Given the description of an element on the screen output the (x, y) to click on. 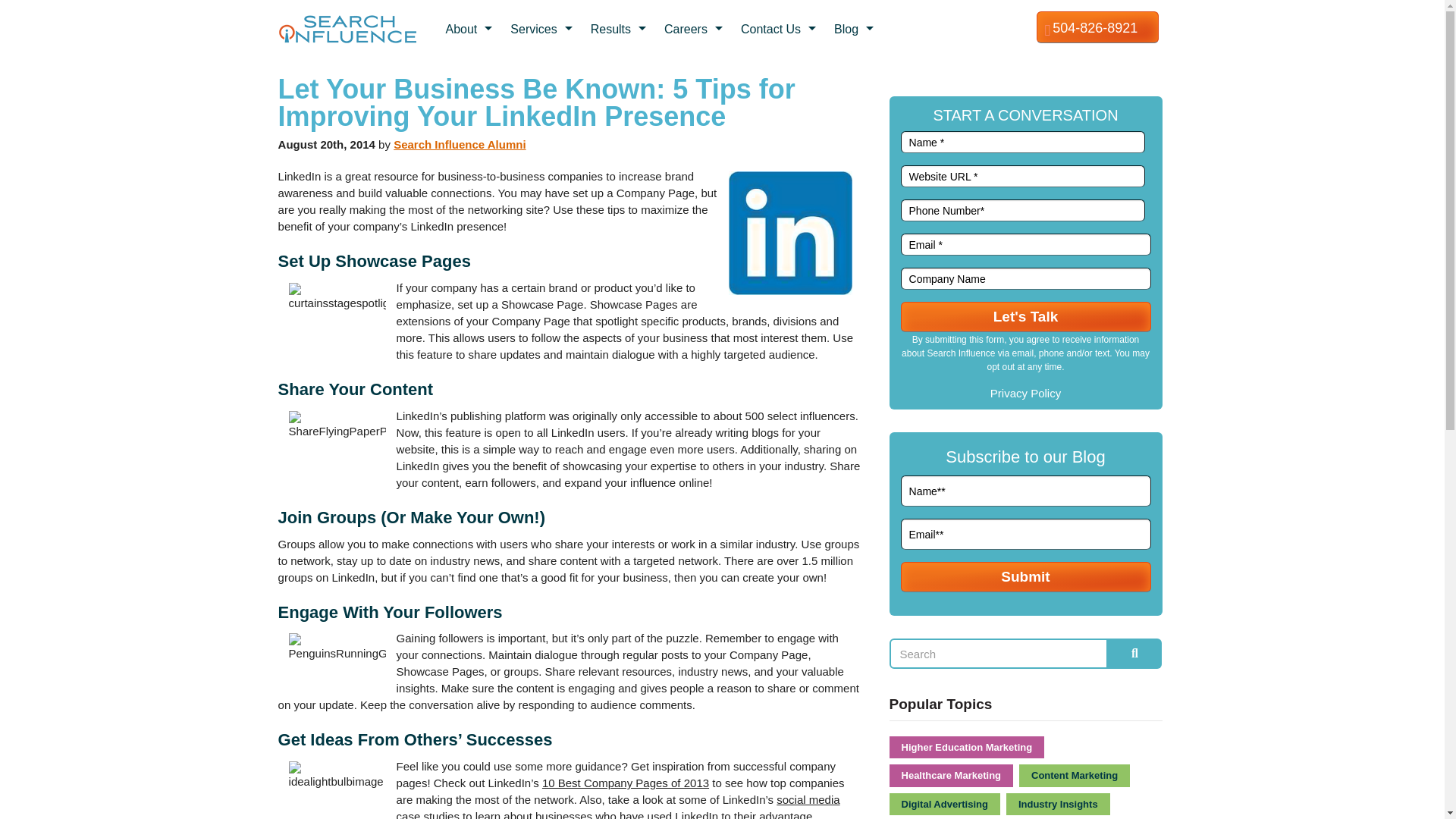
Results (620, 29)
Submit (1026, 576)
Search (998, 653)
Let's Talk (1026, 317)
About (470, 29)
Services (543, 29)
504-826-8921 (1105, 27)
